Given the description of an element on the screen output the (x, y) to click on. 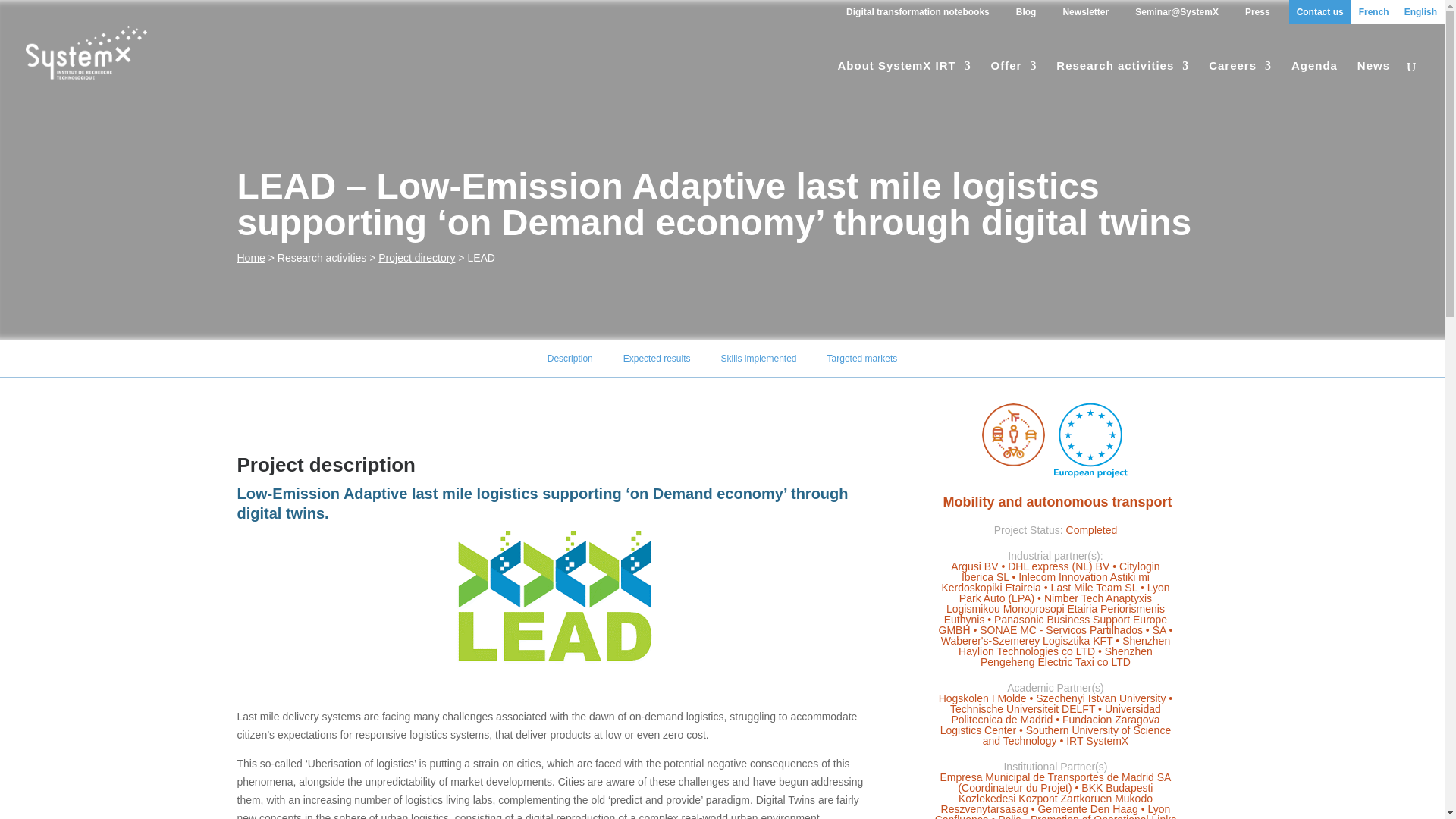
Research activities (1123, 71)
Contact us (1319, 11)
French (1373, 12)
French (1373, 12)
Targeted markets (862, 357)
About SystemX IRT (904, 71)
Home (249, 257)
Project directory (416, 257)
Agenda (1314, 71)
Press (1257, 11)
Description (569, 357)
Careers (1239, 71)
Skills implemented (758, 357)
Blog (1026, 11)
News (1373, 71)
